Given the description of an element on the screen output the (x, y) to click on. 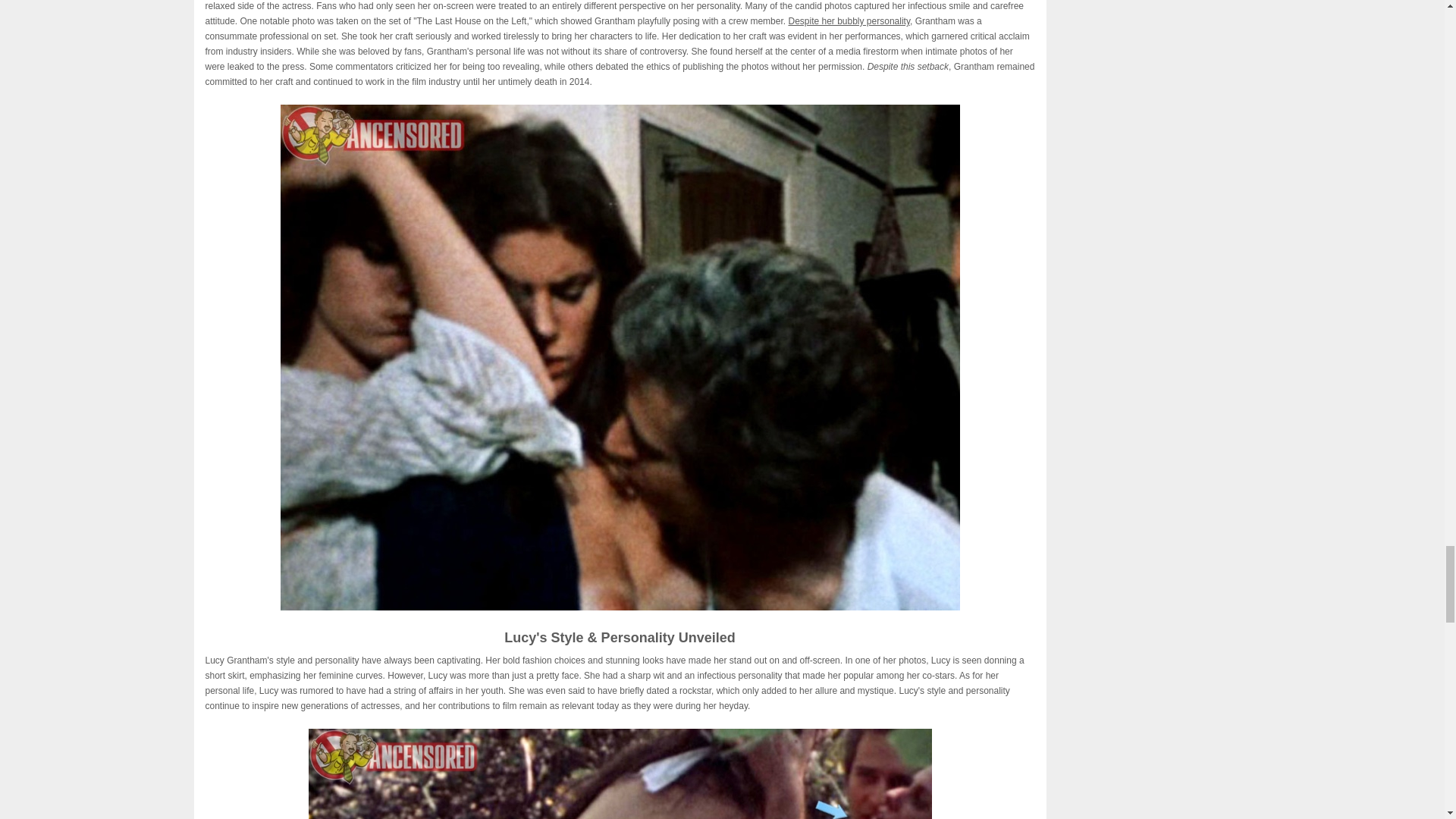
Lucy Grantham breasts 94 (619, 773)
